Given the description of an element on the screen output the (x, y) to click on. 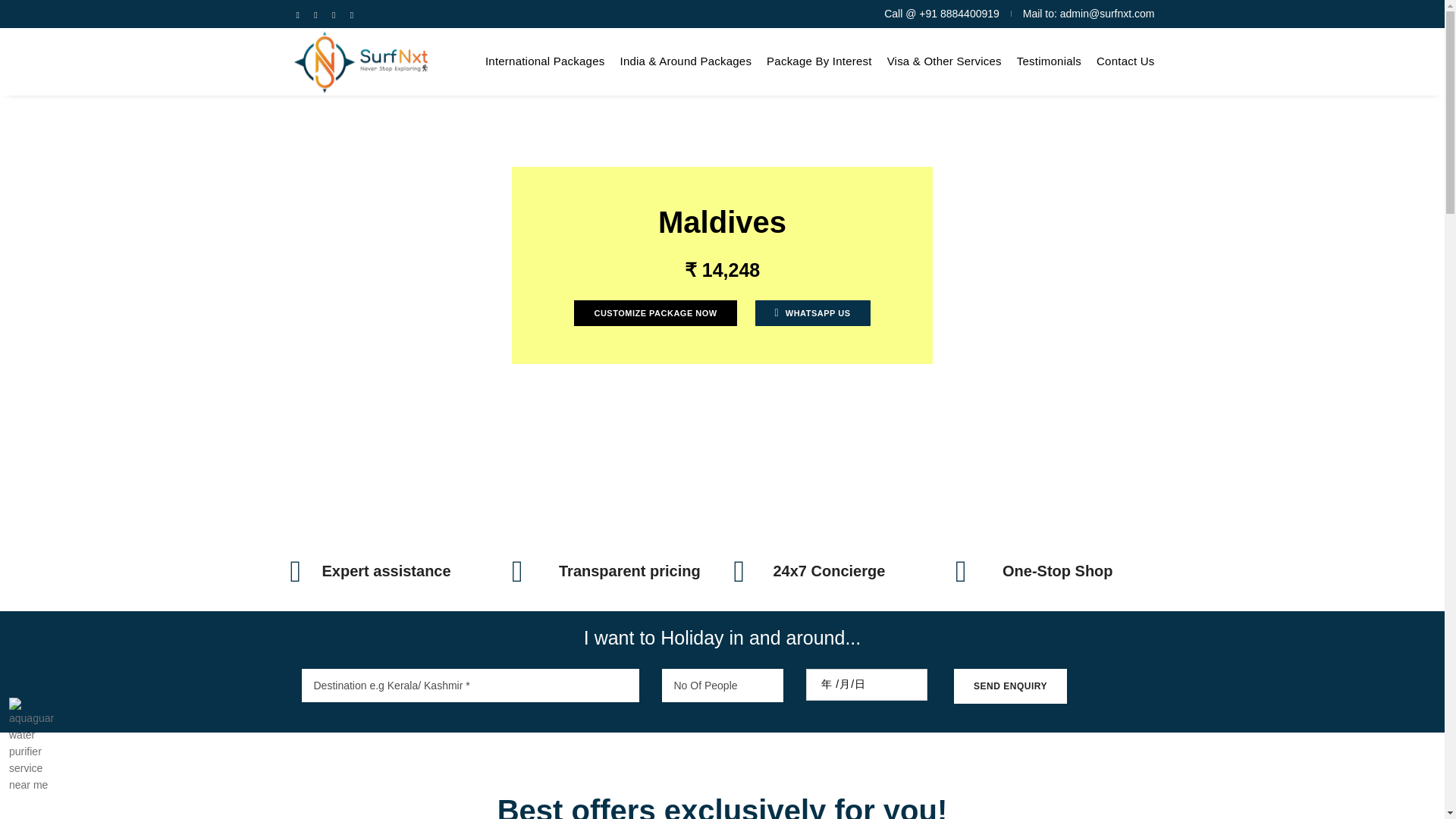
Linked In (333, 14)
Twitter (315, 14)
Facebook (296, 14)
International Packages (544, 61)
